Given the description of an element on the screen output the (x, y) to click on. 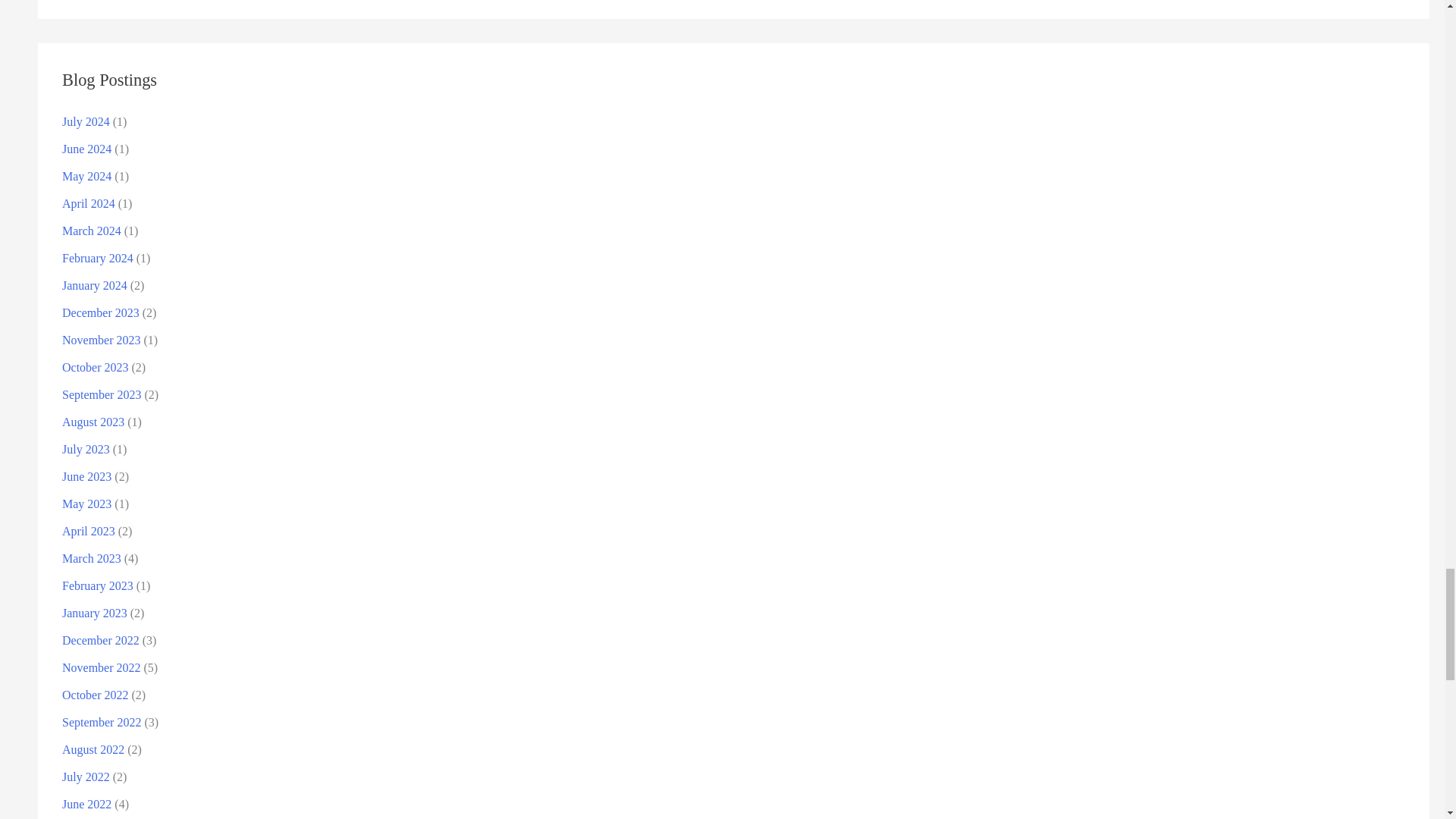
December 2023 (100, 312)
September 2023 (101, 394)
June 2024 (87, 148)
November 2023 (101, 339)
May 2024 (87, 175)
February 2024 (97, 257)
July 2024 (86, 121)
January 2024 (95, 285)
March 2024 (91, 230)
October 2023 (95, 367)
April 2024 (88, 203)
